Given the description of an element on the screen output the (x, y) to click on. 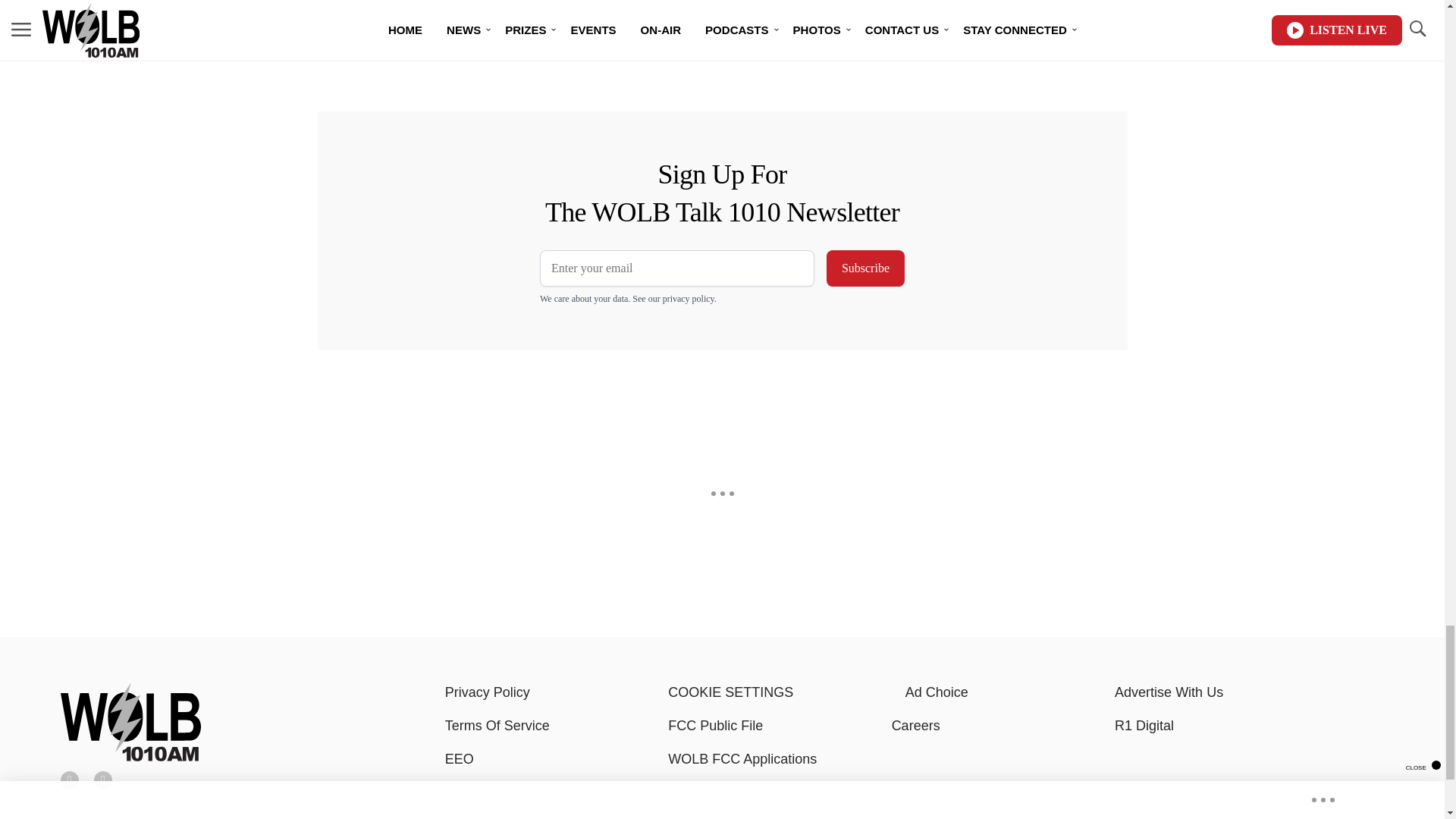
Load More (596, 41)
Load More (240, 41)
